Given the description of an element on the screen output the (x, y) to click on. 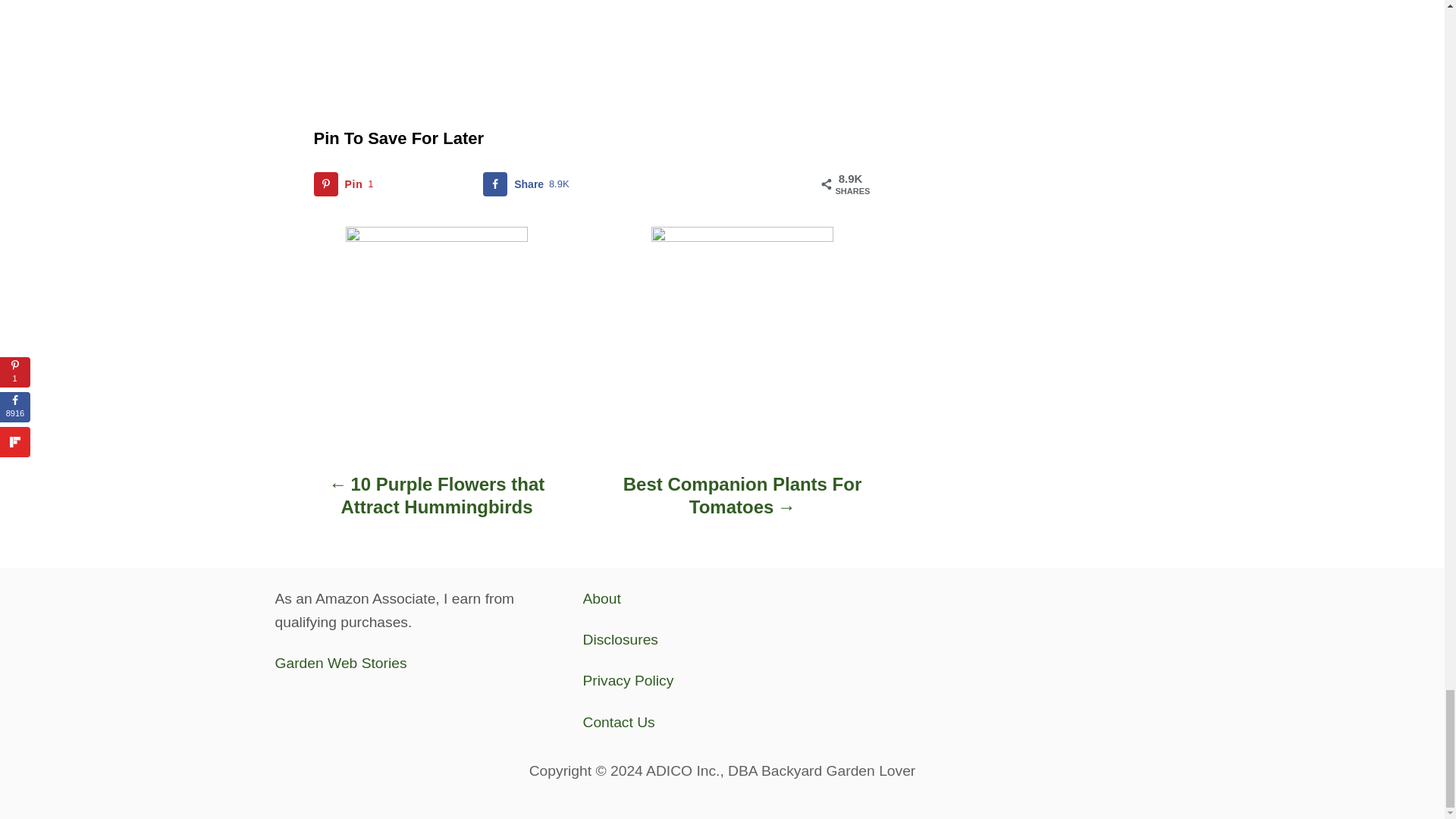
Save to Pinterest (394, 183)
Best Companion Plants For Tomatoes (563, 183)
10 Purple Flowers that Attract Hummingbirds (741, 499)
